Given the description of an element on the screen output the (x, y) to click on. 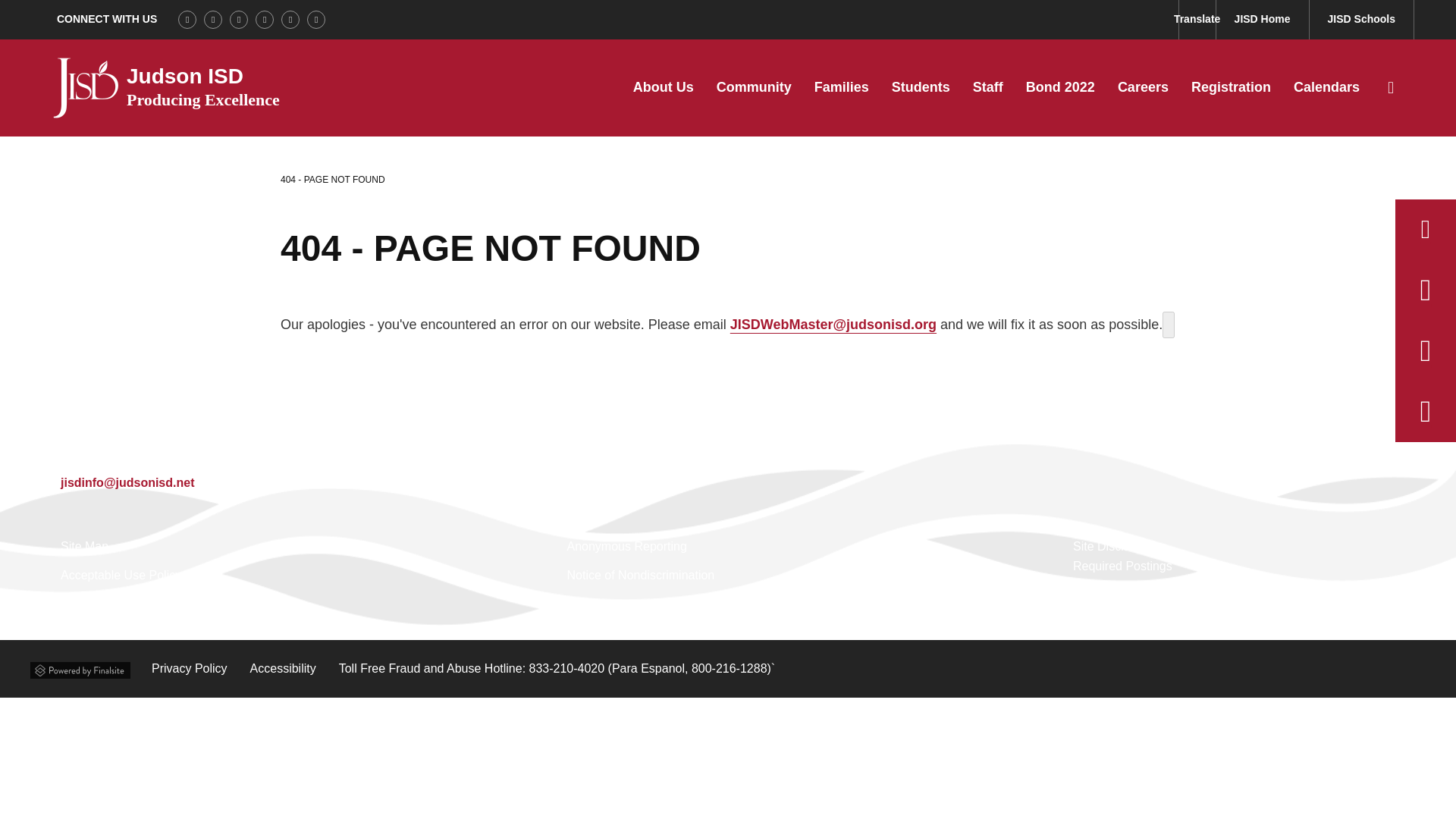
Email (127, 481)
Powered by Finalsite opens in a new window (80, 667)
Edit Banner (1167, 325)
